Given the description of an element on the screen output the (x, y) to click on. 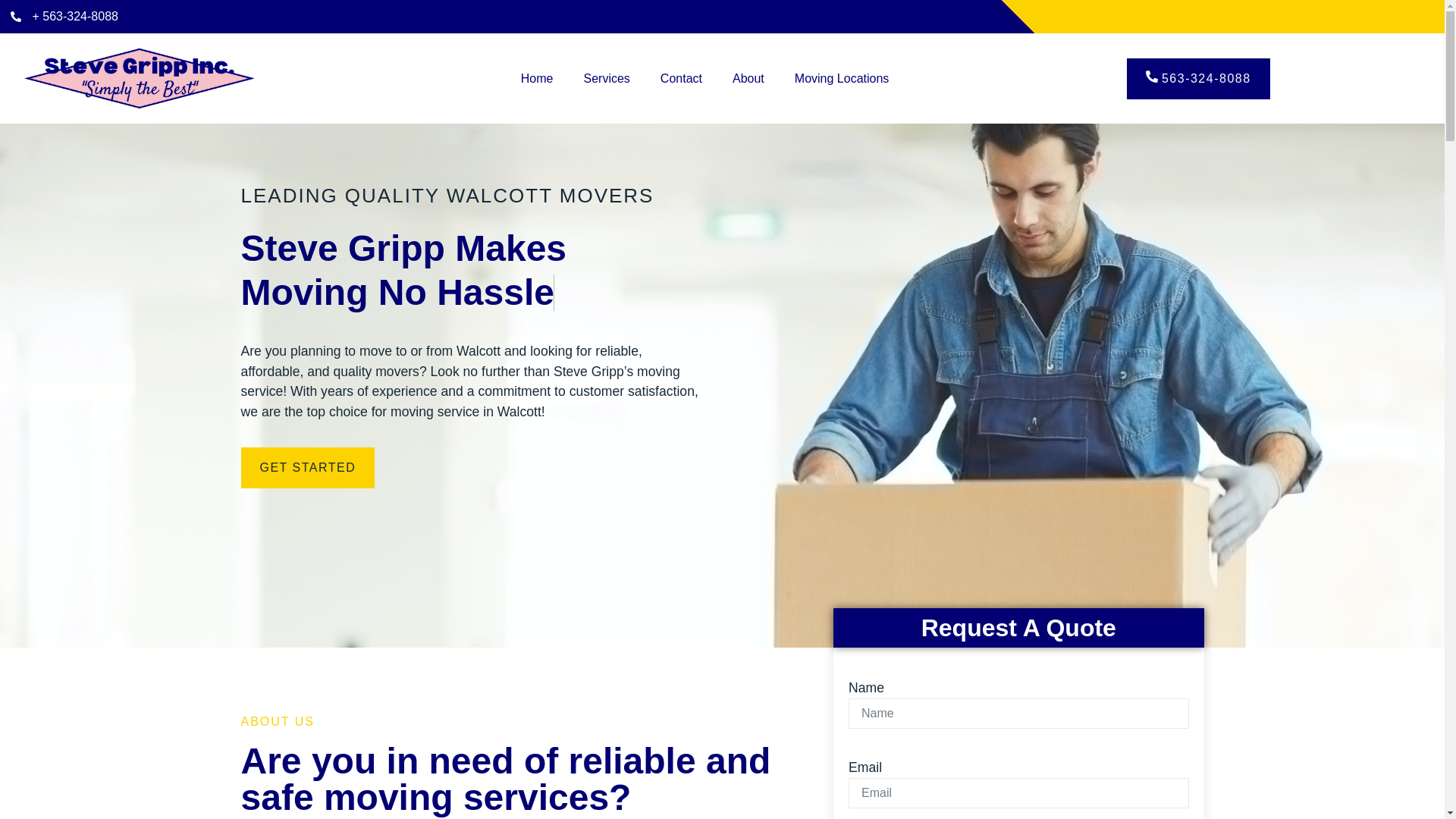
About (747, 78)
Services (607, 78)
Contact (681, 78)
Moving Locations (841, 78)
Home (537, 78)
Steve Gripp Inc. (139, 78)
